Given the description of an element on the screen output the (x, y) to click on. 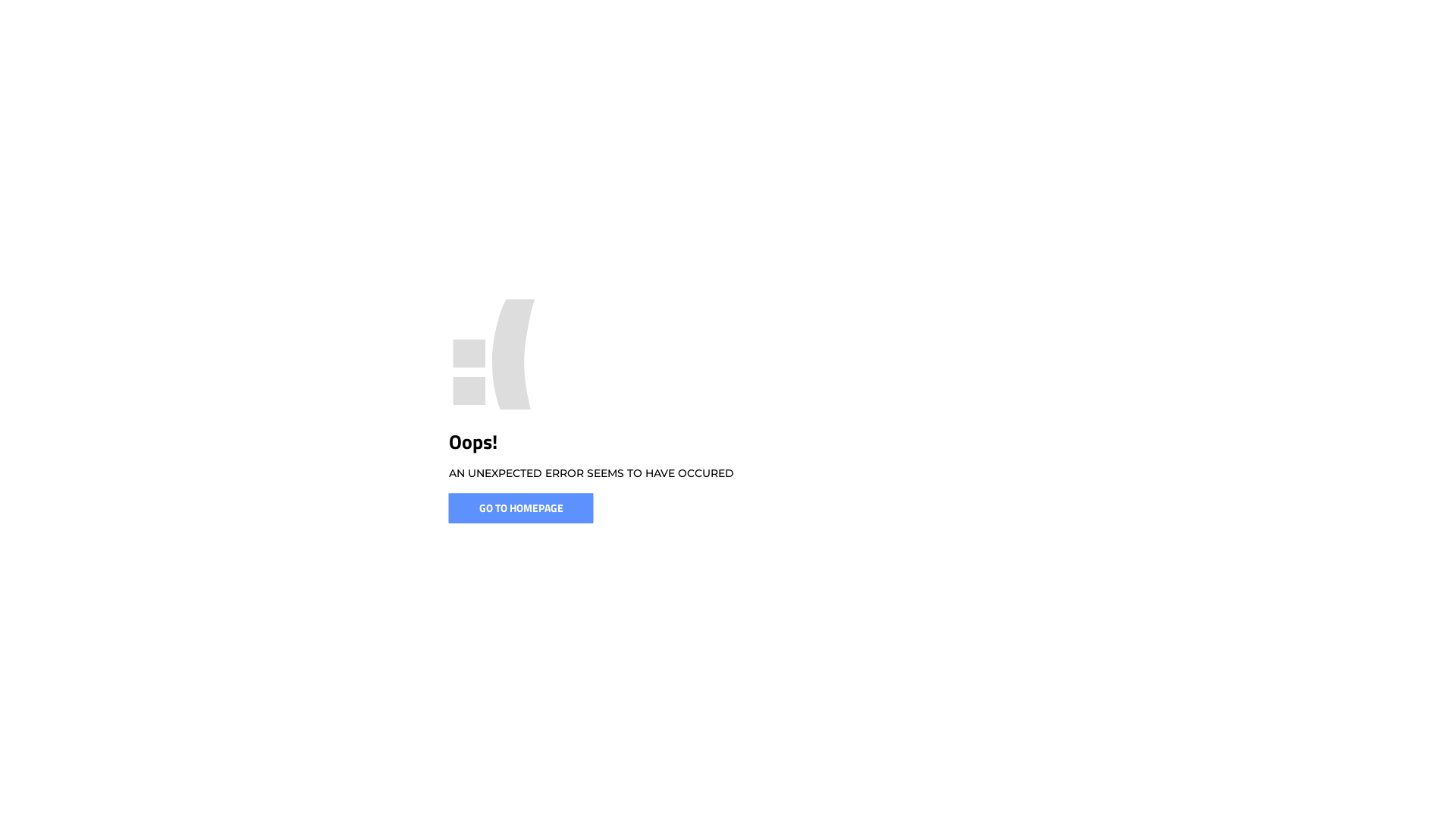
GO TO HOMEPAGE Element type: text (520, 507)
